Given the description of an element on the screen output the (x, y) to click on. 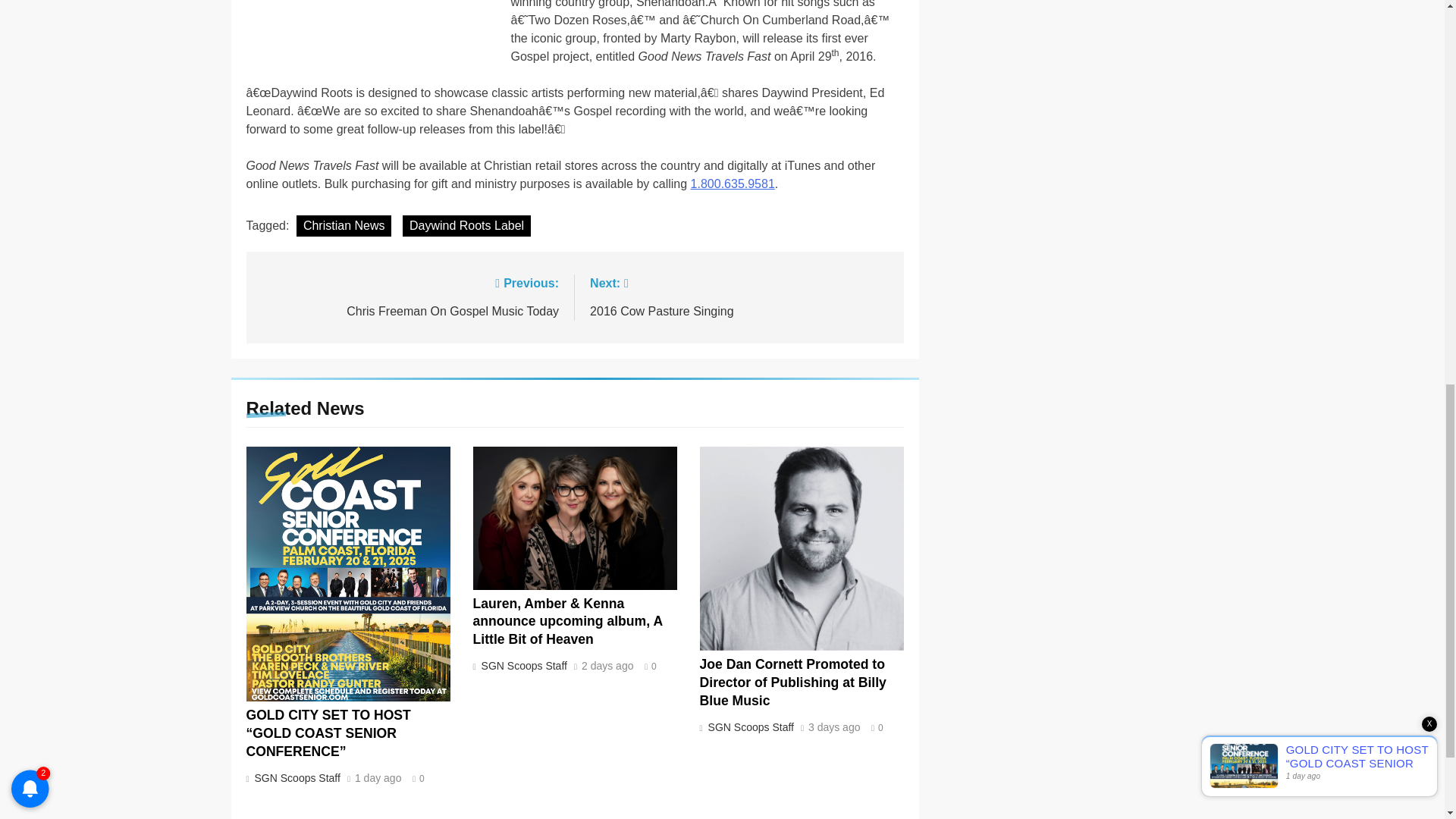
2 days ago (606, 665)
3 days ago (738, 295)
1 day ago (834, 727)
SGN Scoops Staff (378, 778)
SGN Scoops Staff (295, 777)
Daywind Roots Label (522, 665)
Christian News (467, 225)
SGN Scoops Staff (344, 225)
